Given the description of an element on the screen output the (x, y) to click on. 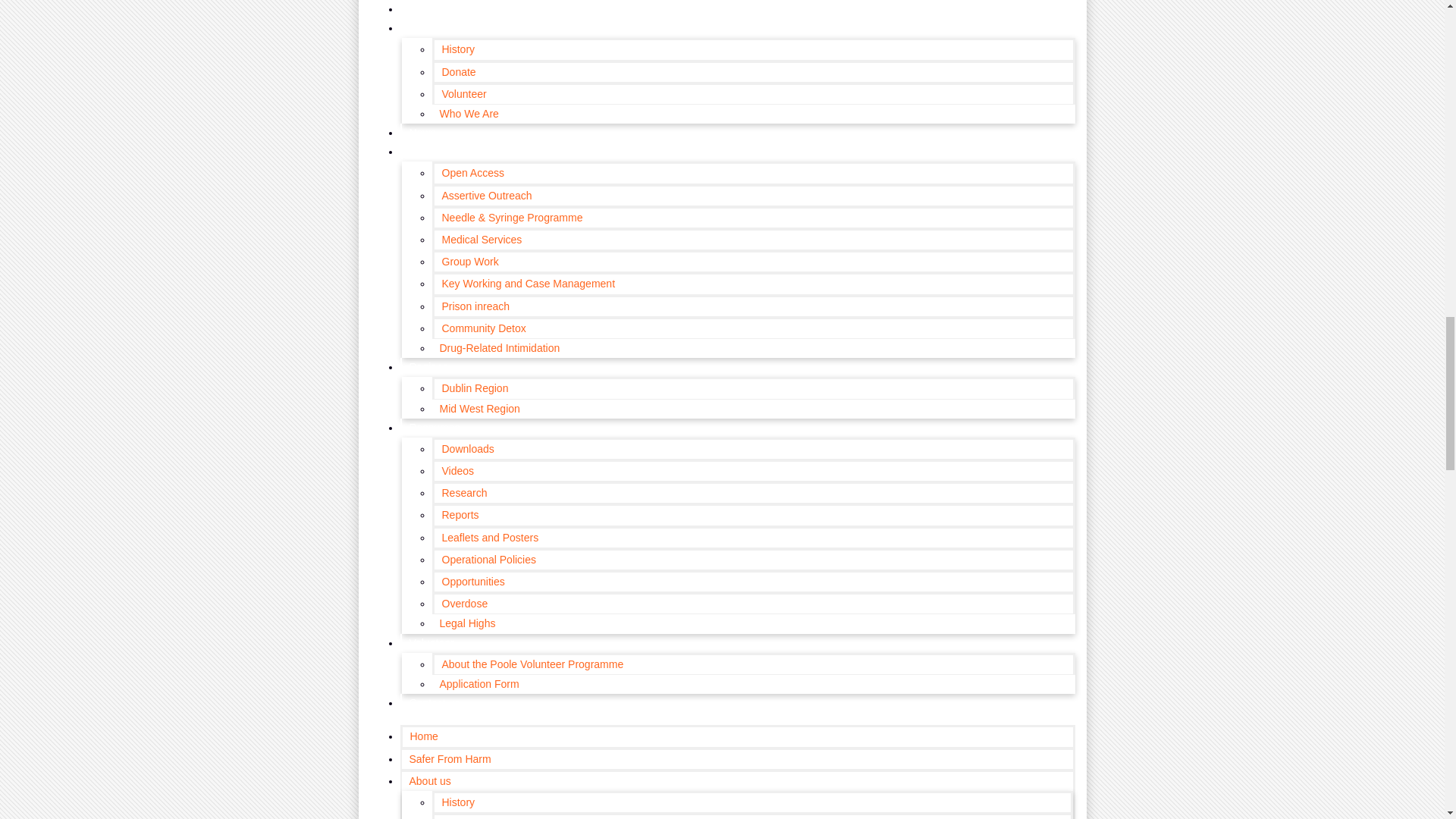
Operational Policies (488, 558)
About us (429, 27)
Downloads (466, 448)
Reports (459, 514)
Resources (434, 427)
Overdose (464, 603)
History (457, 48)
Home (423, 735)
Assertive Outreach (485, 195)
Videos (457, 470)
Home (422, 0)
Volunteer (463, 93)
Donate (458, 71)
About the Poole Volunteer Programme (531, 663)
Services (429, 151)
